Given the description of an element on the screen output the (x, y) to click on. 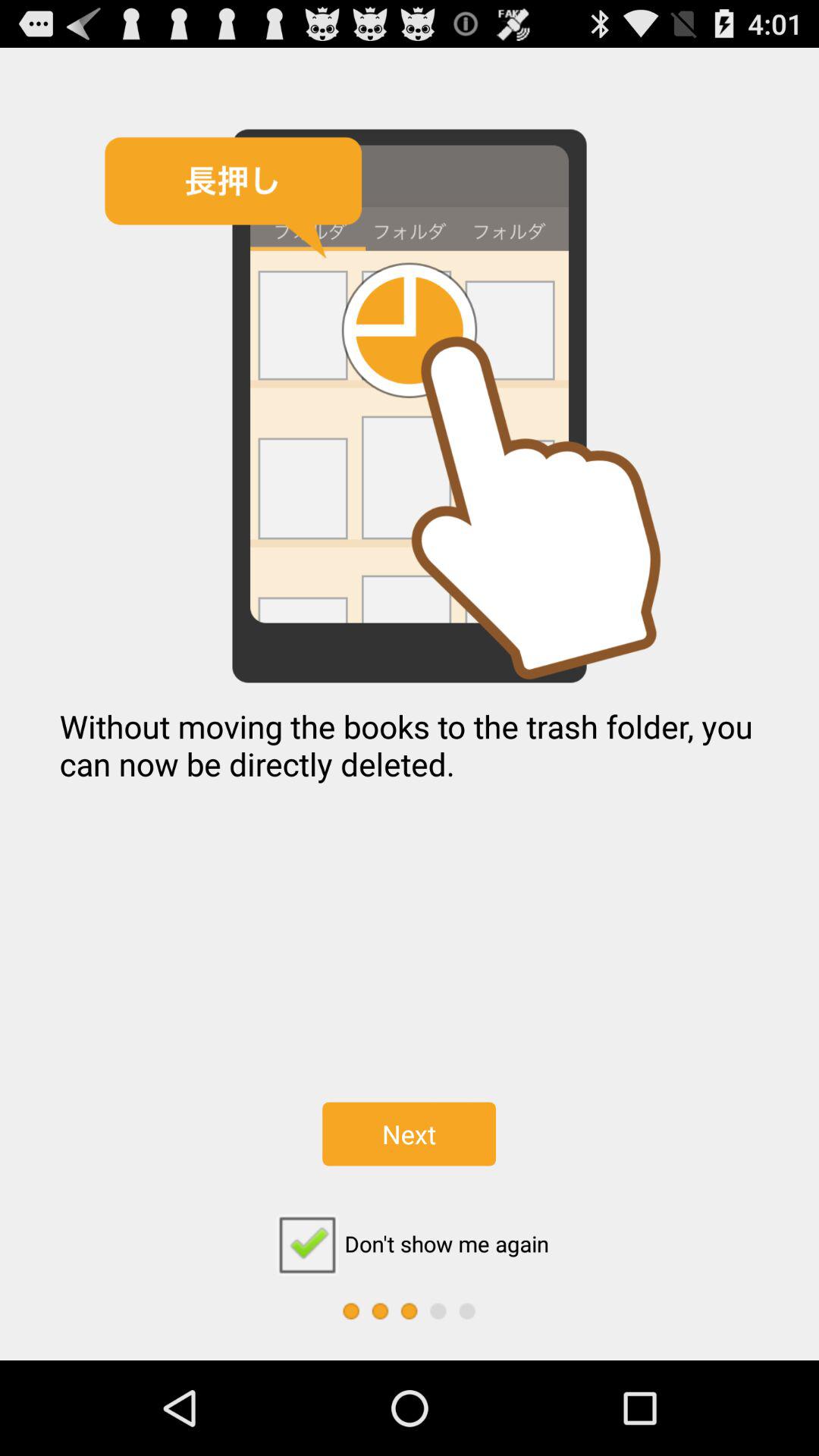
tap icon below next (409, 1243)
